Given the description of an element on the screen output the (x, y) to click on. 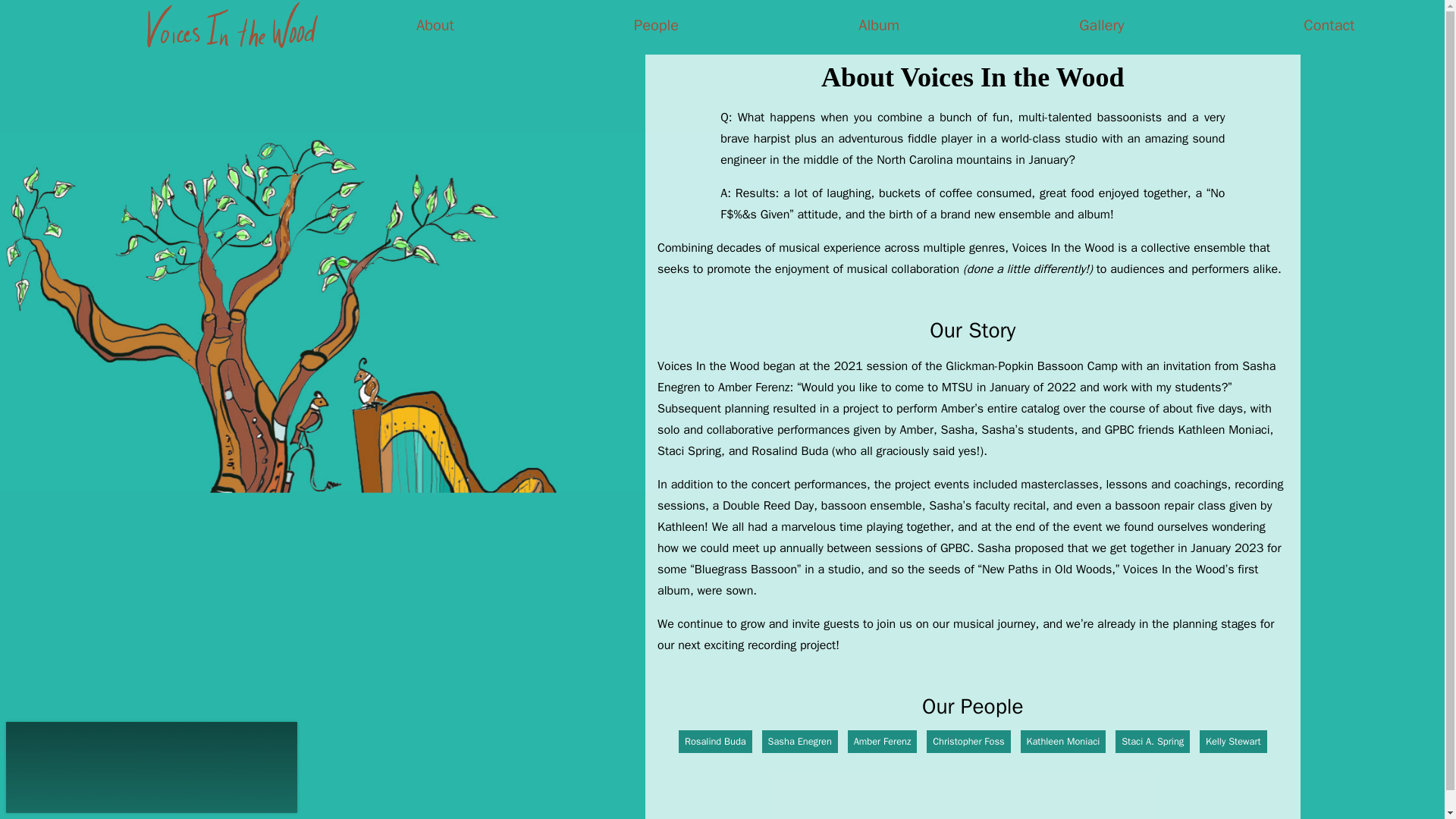
Gallery (1100, 25)
Album (879, 25)
Kathleen Moniaci (1063, 741)
Christopher Foss (968, 741)
Staci A. Spring (1152, 741)
Contact (1328, 25)
People (655, 25)
Kelly Stewart (1232, 741)
Rosalind Buda (715, 741)
Sasha Enegren (799, 741)
